Given the description of an element on the screen output the (x, y) to click on. 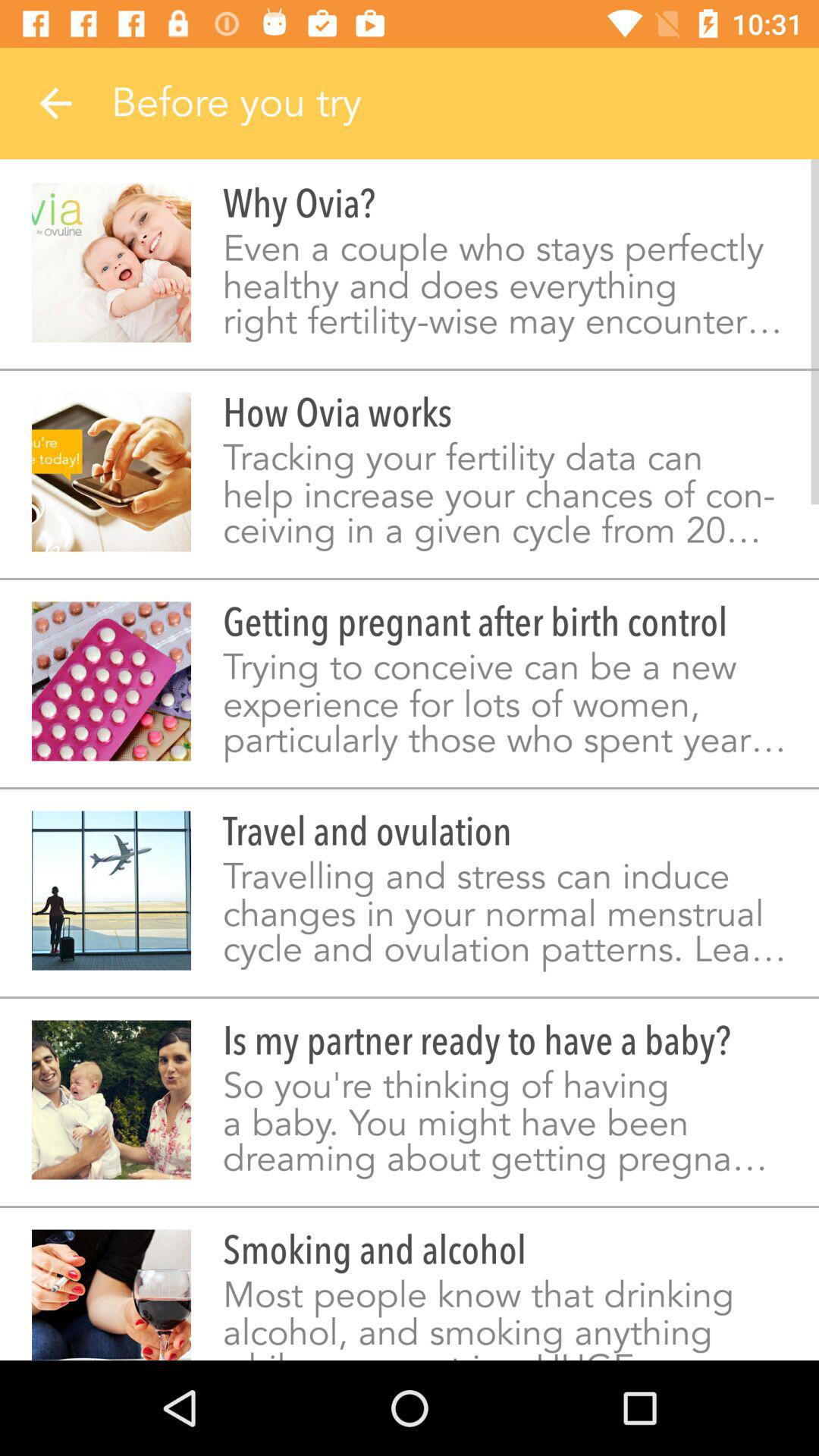
turn on the item above why ovia? item (465, 103)
